Given the description of an element on the screen output the (x, y) to click on. 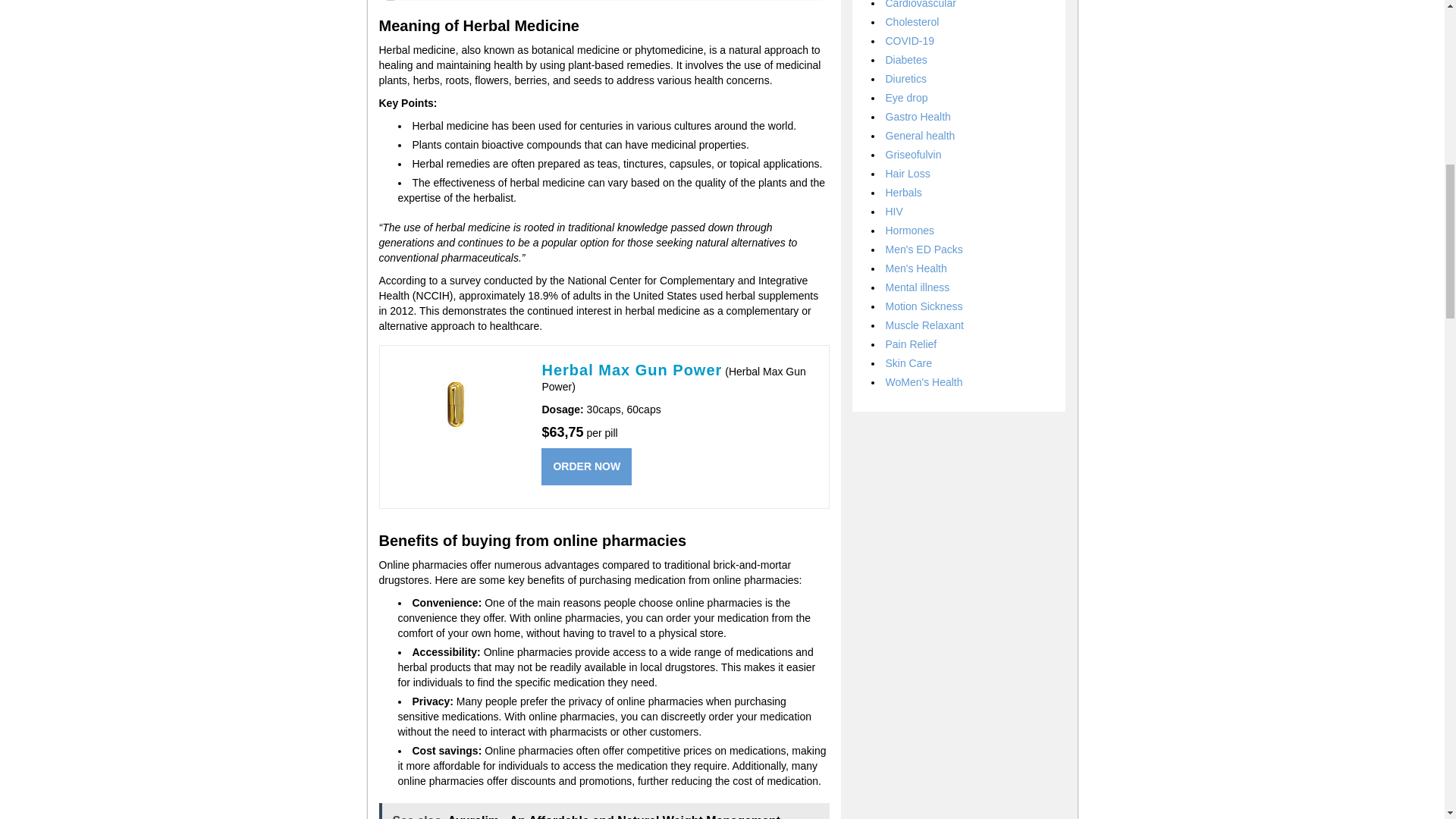
Cardiovascular (920, 4)
ORDER NOW (586, 466)
Cholesterol (912, 21)
COVID-19 (909, 40)
Diabetes (906, 60)
Diuretics (905, 78)
